Given the description of an element on the screen output the (x, y) to click on. 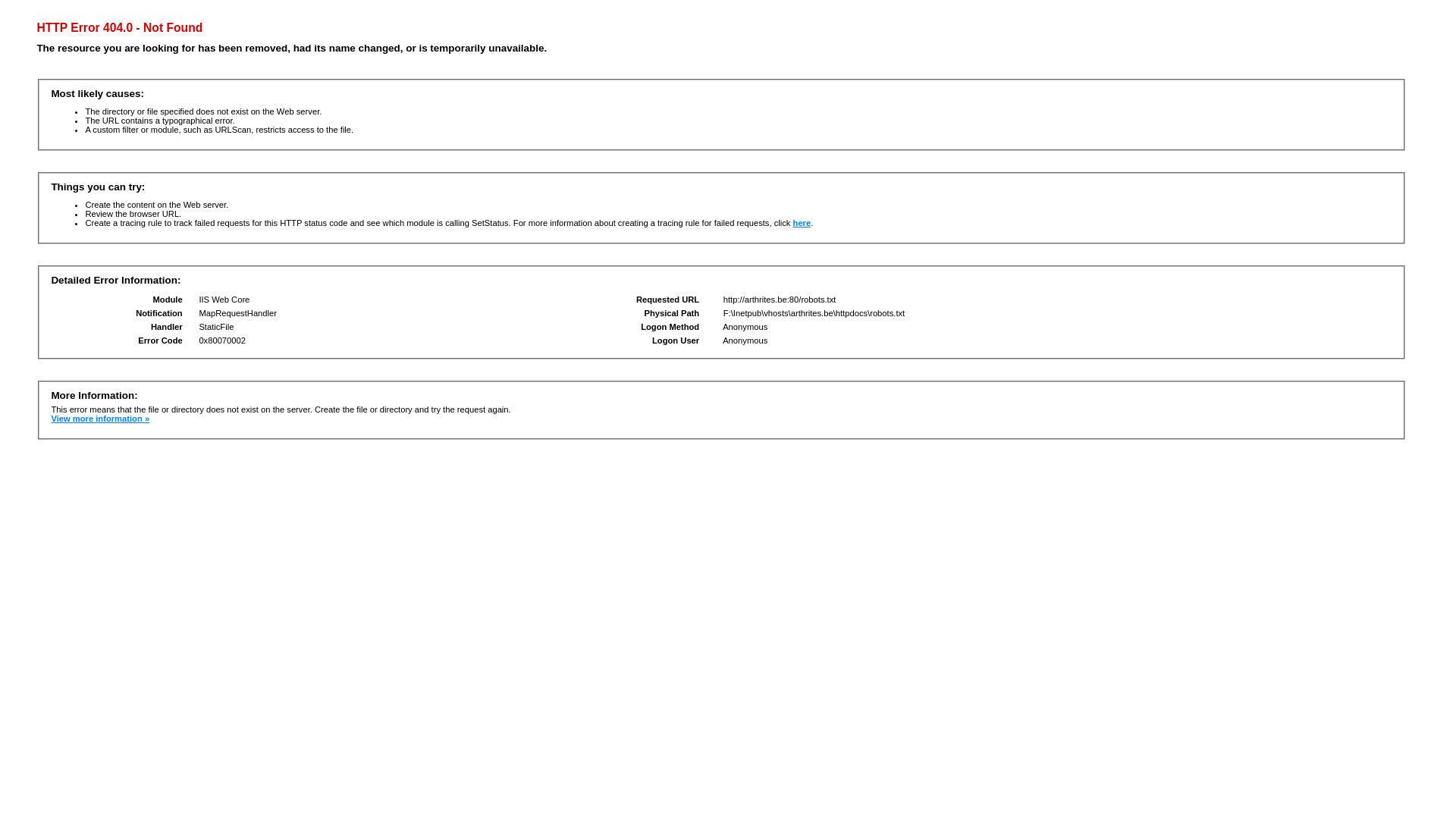
here Element type: text (802, 222)
